Given the description of an element on the screen output the (x, y) to click on. 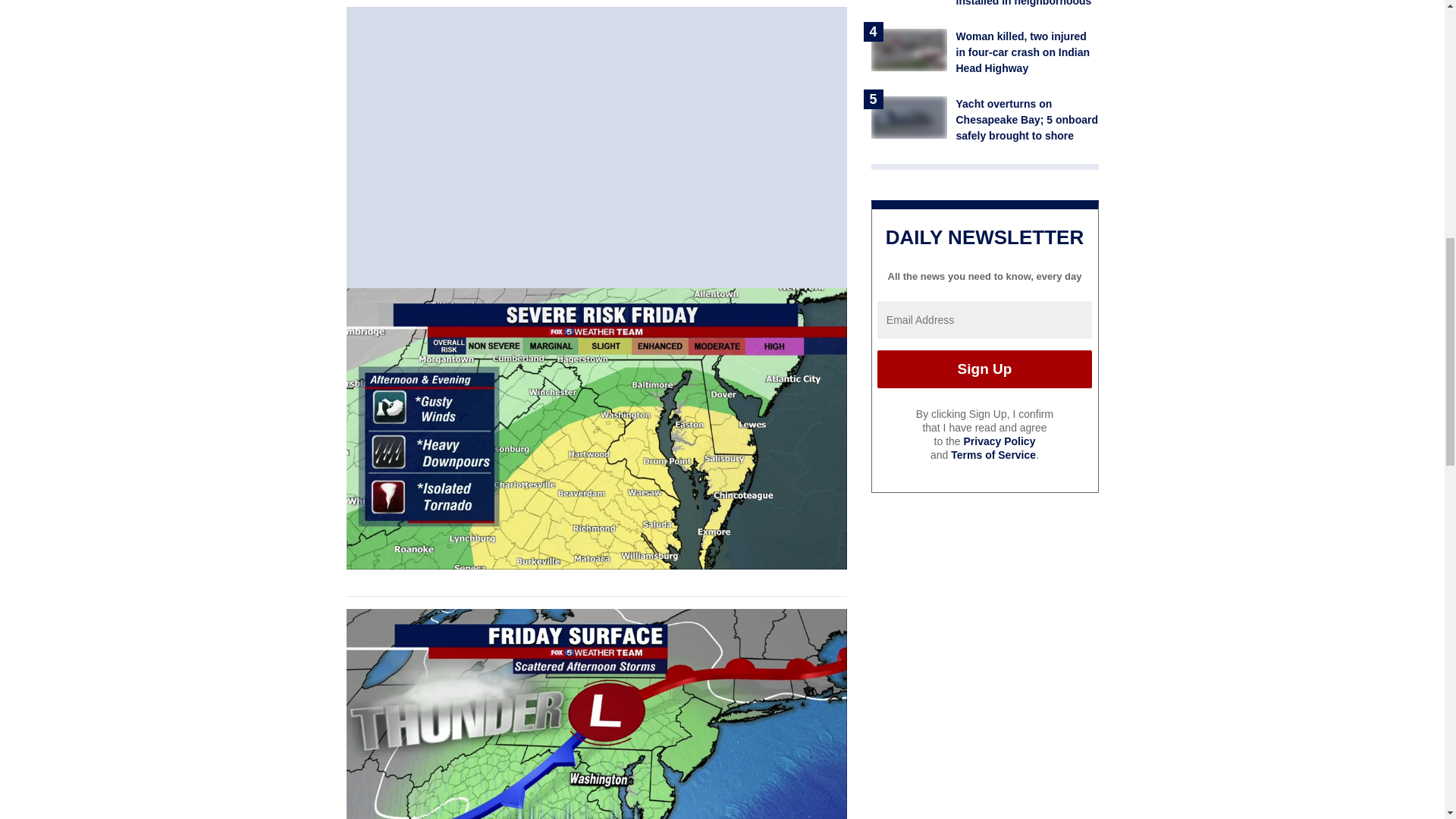
Sign Up (984, 369)
